Given the description of an element on the screen output the (x, y) to click on. 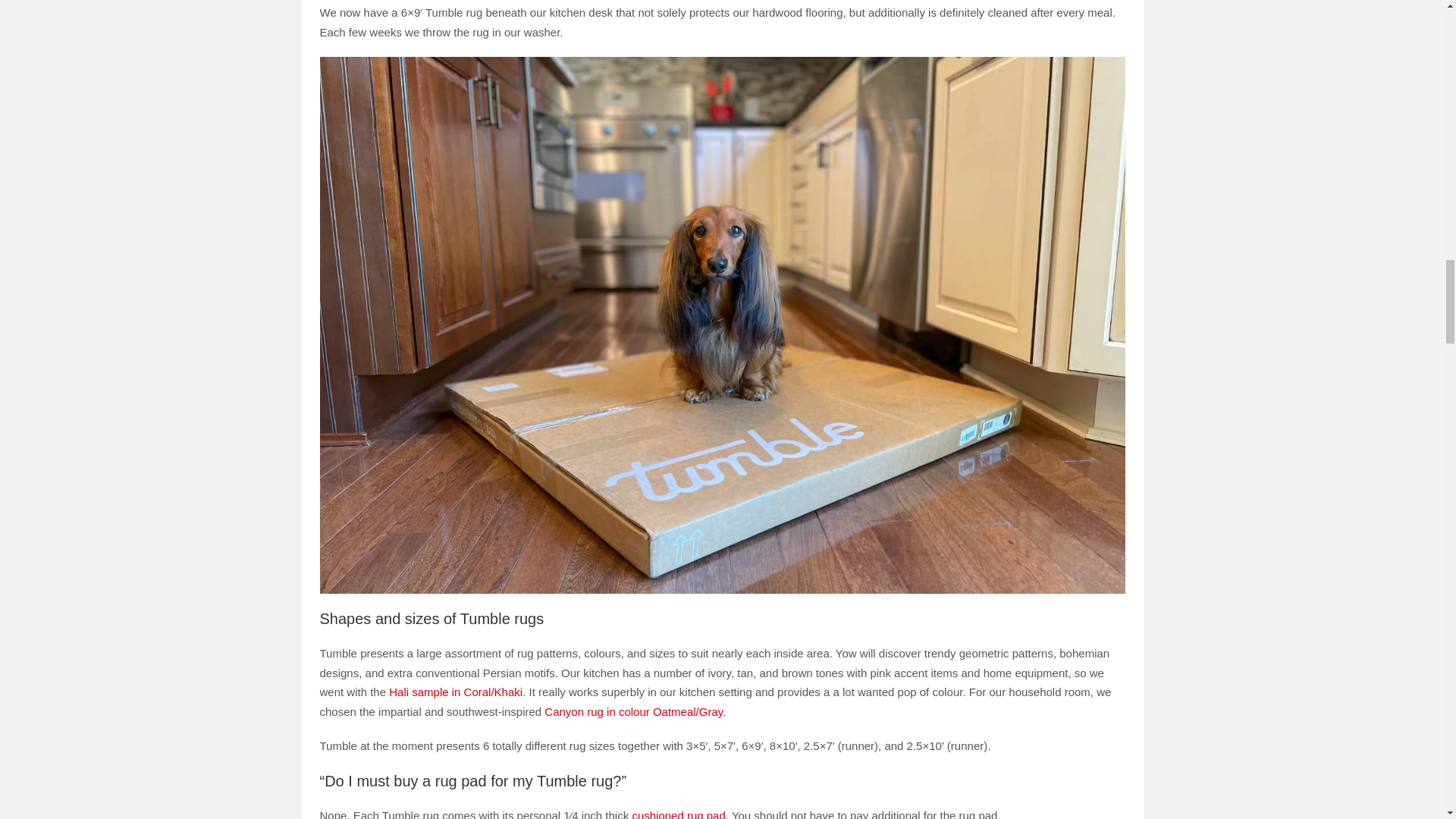
Tumble rug pads (678, 814)
Tumble rugs review, overview, and coupon code (722, 65)
